Given the description of an element on the screen output the (x, y) to click on. 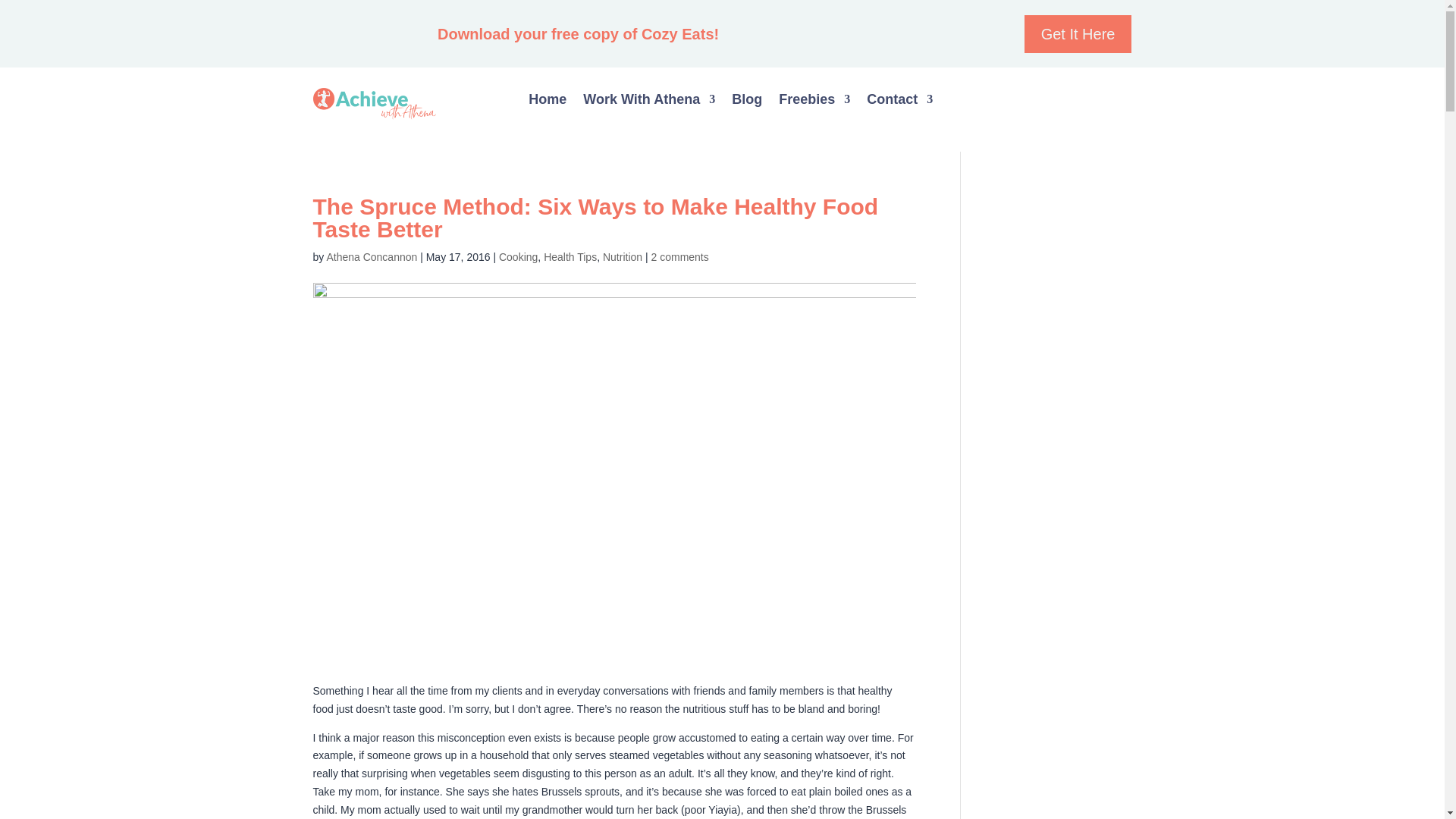
Posts by Athena Concannon (371, 256)
2 comments (679, 256)
Work With Athena (648, 102)
Home (547, 102)
Contact (899, 102)
Cooking (518, 256)
Get It Here (1078, 34)
Freebies (814, 102)
Nutrition (622, 256)
Athena Concannon (371, 256)
